Given the description of an element on the screen output the (x, y) to click on. 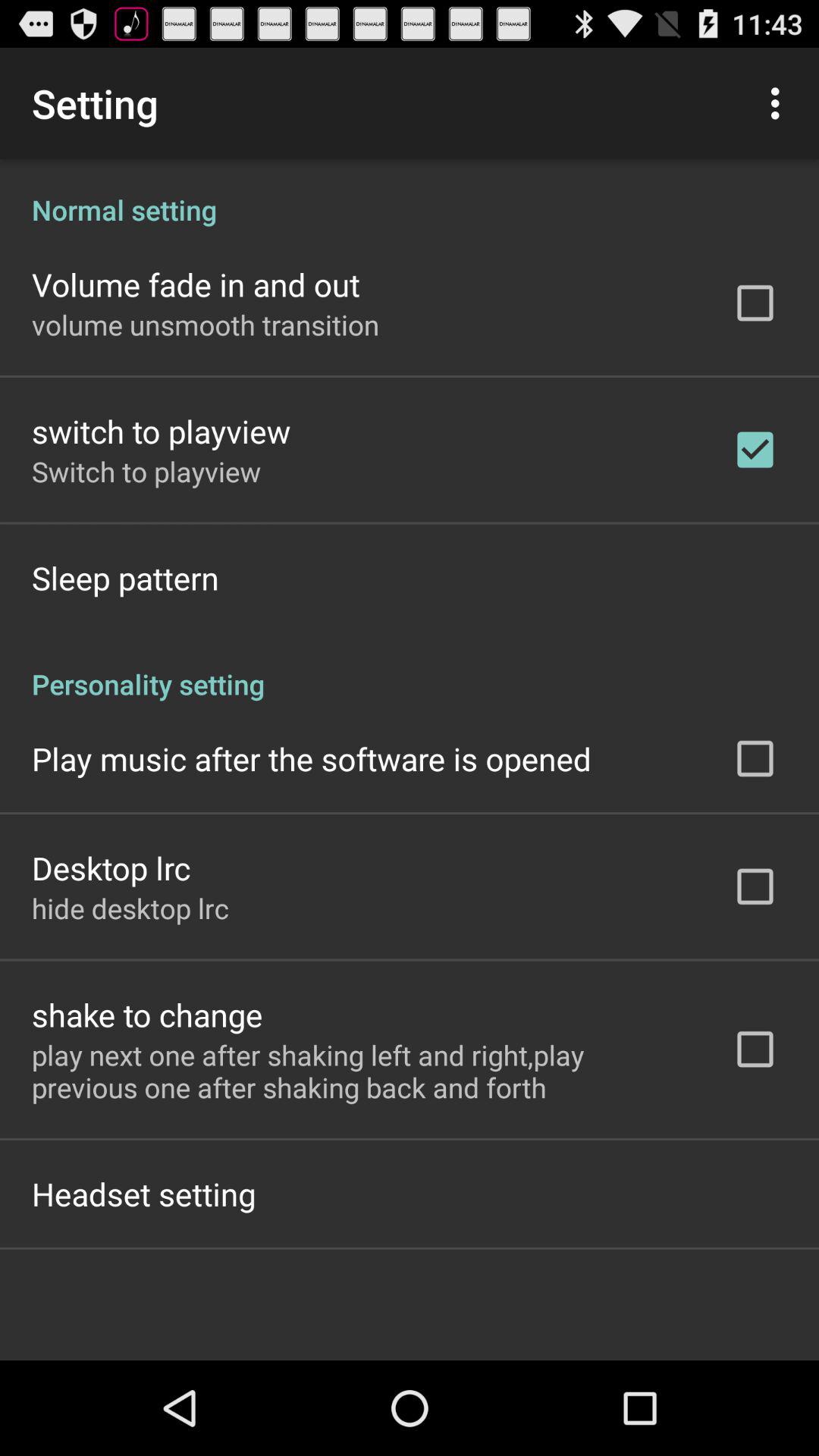
click the icon above the switch to playview item (205, 324)
